Given the description of an element on the screen output the (x, y) to click on. 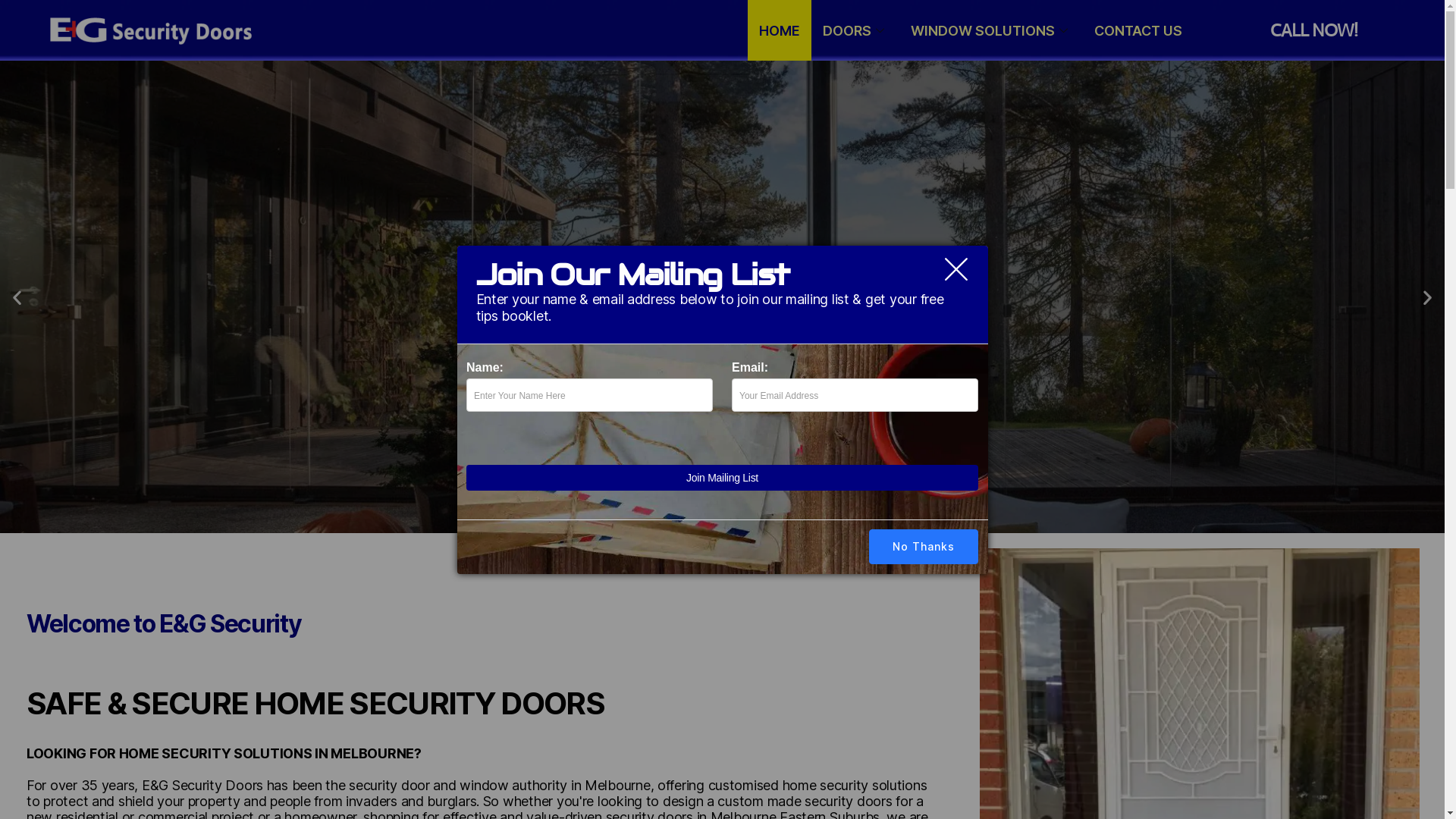
WINDOW SOLUTIONS Element type: text (990, 30)
CALL NOW! Element type: text (1313, 29)
CONTACT US Element type: text (1137, 30)
HOME Element type: text (779, 30)
DOORS Element type: text (855, 30)
No Thanks Element type: text (923, 546)
EG-Logo2 Element type: hover (152, 29)
